Given the description of an element on the screen output the (x, y) to click on. 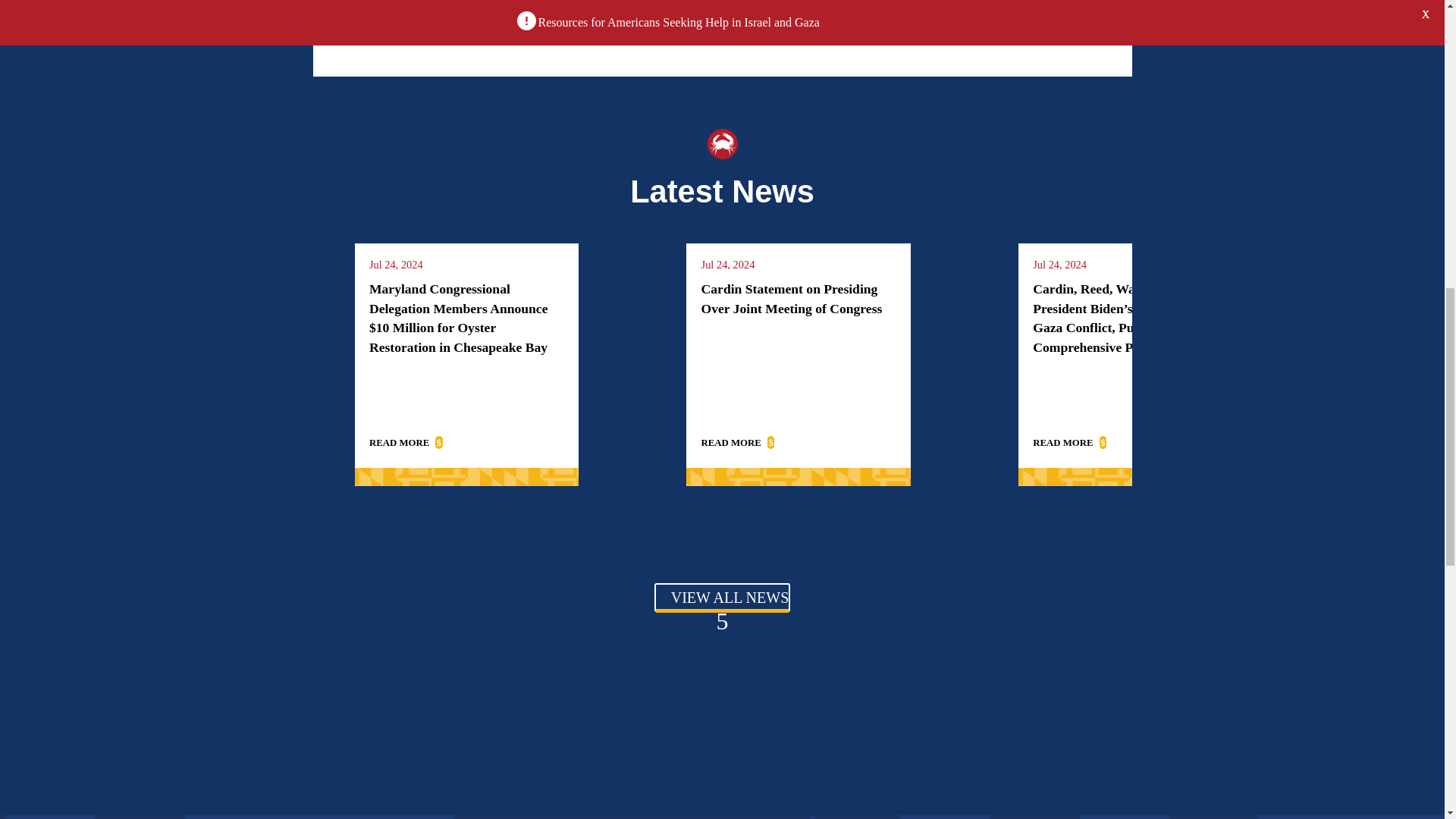
Crab (721, 143)
Tweet (865, 6)
Email (661, 6)
Share on Facebook (761, 6)
Print (563, 6)
